Given the description of an element on the screen output the (x, y) to click on. 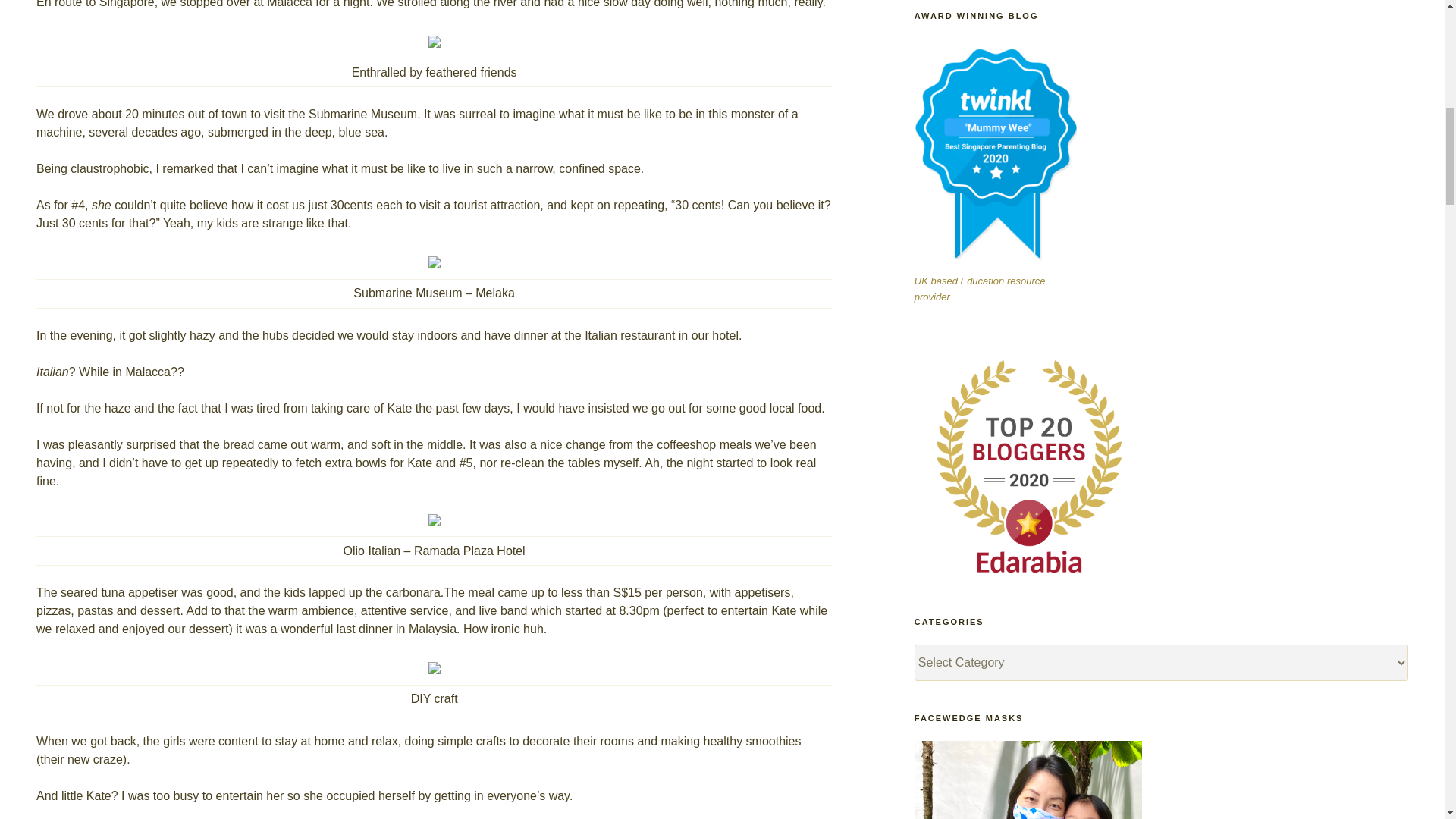
FACEWEDGE MASKS (1027, 780)
